Given the description of an element on the screen output the (x, y) to click on. 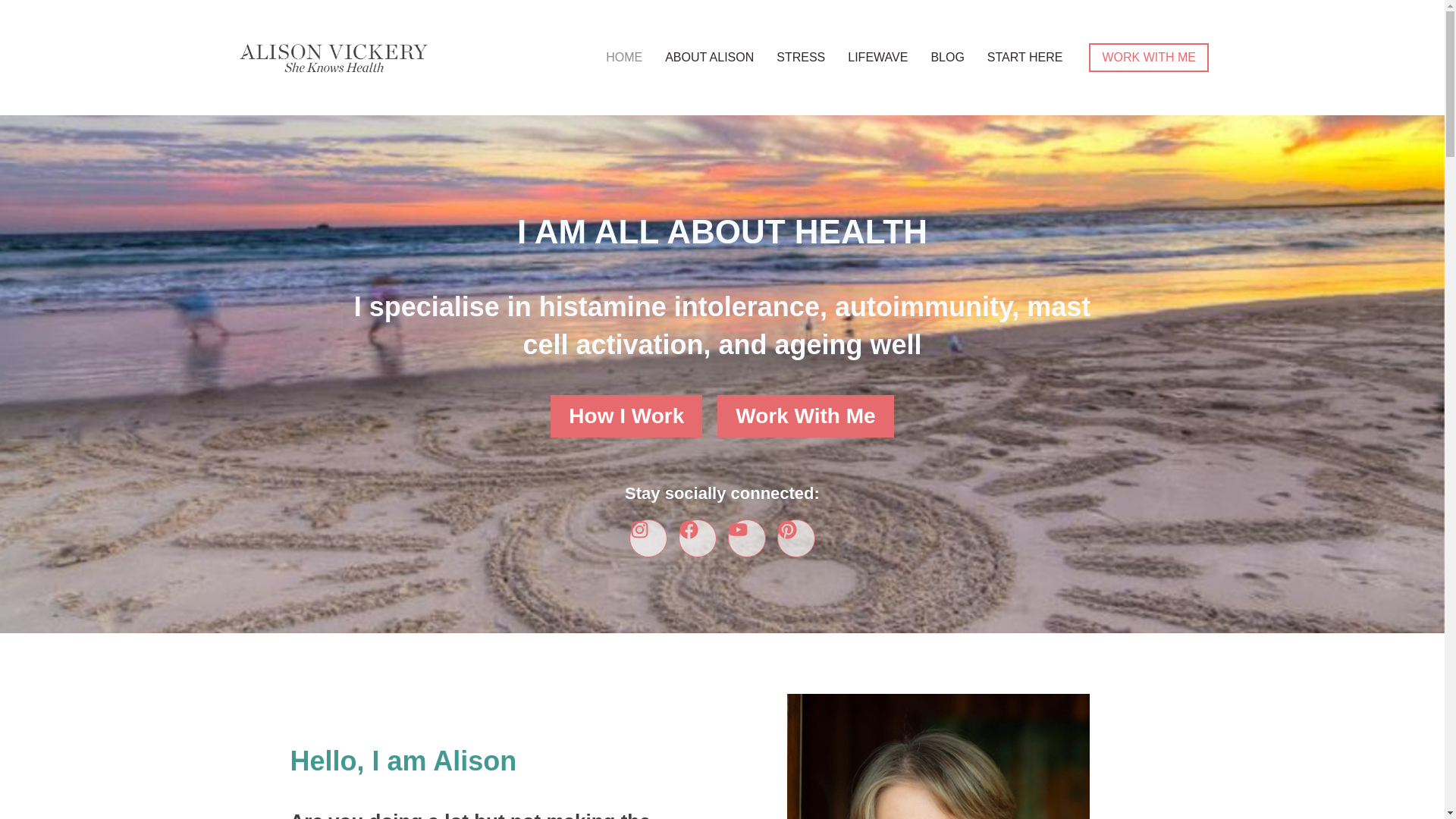
HOME (623, 57)
ABOUT ALISON (709, 57)
LIFEWAVE (876, 57)
START HERE (1024, 57)
WORK WITH ME (1148, 57)
STRESS (800, 57)
BLOG (946, 57)
